Given the description of an element on the screen output the (x, y) to click on. 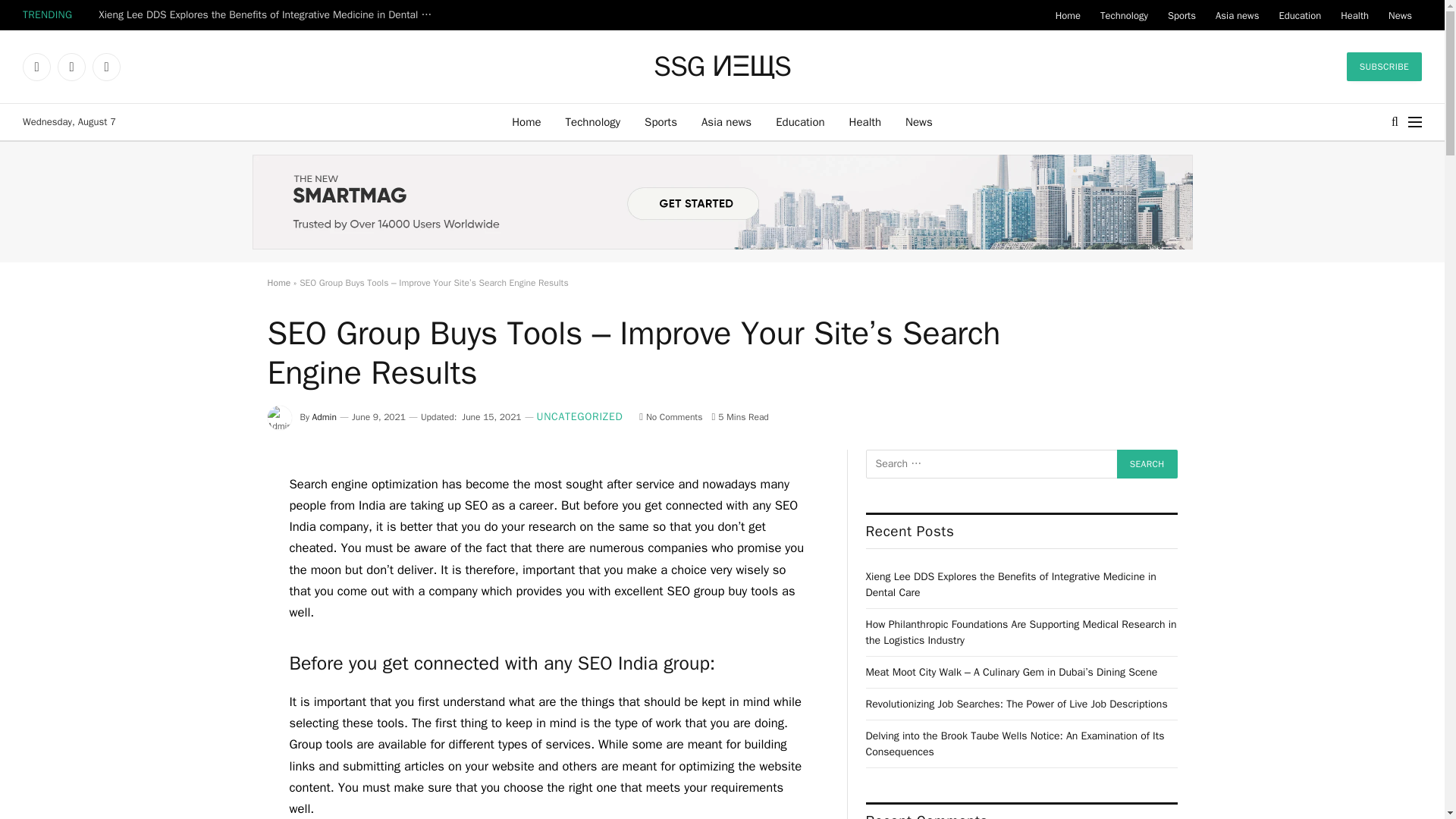
Health (1354, 15)
Education (1299, 15)
Sports (659, 122)
Sports (1181, 15)
Search (1146, 463)
Home (1067, 15)
Education (798, 122)
Technology (593, 122)
Instagram (106, 67)
SUBSCRIBE (1384, 66)
Asia news (725, 122)
Search (1146, 463)
News (918, 122)
Facebook (36, 67)
